Given the description of an element on the screen output the (x, y) to click on. 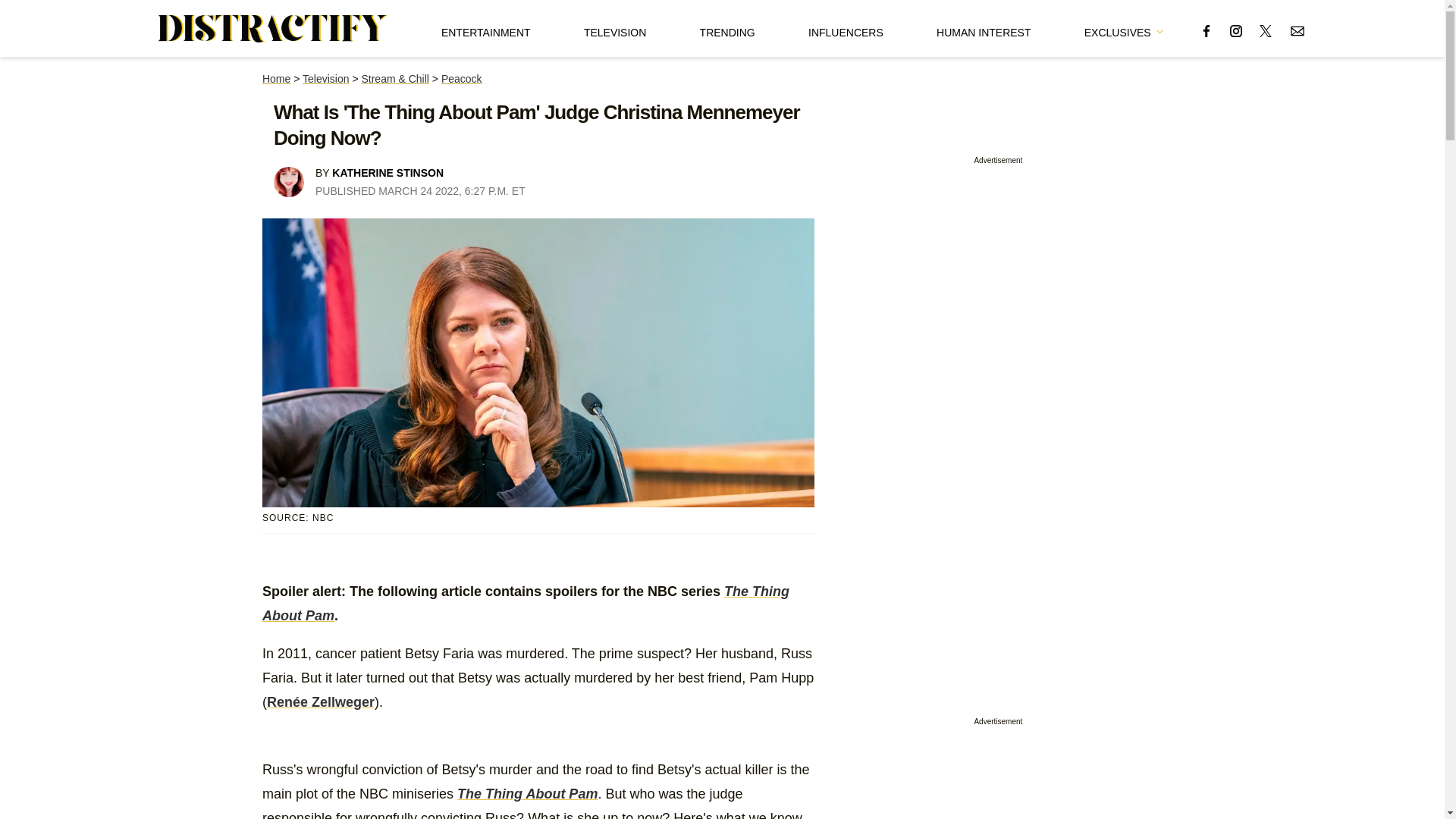
The Thing About Pam (526, 793)
ENTERTAINMENT (486, 27)
The Thing About Pam (525, 603)
LINK TO INSTAGRAM (1235, 30)
LINK TO EMAIL SUBSCRIBE (1297, 30)
INFLUENCERS (845, 27)
Peacock (461, 78)
TELEVISION (614, 27)
Television (325, 78)
Home (275, 78)
